Given the description of an element on the screen output the (x, y) to click on. 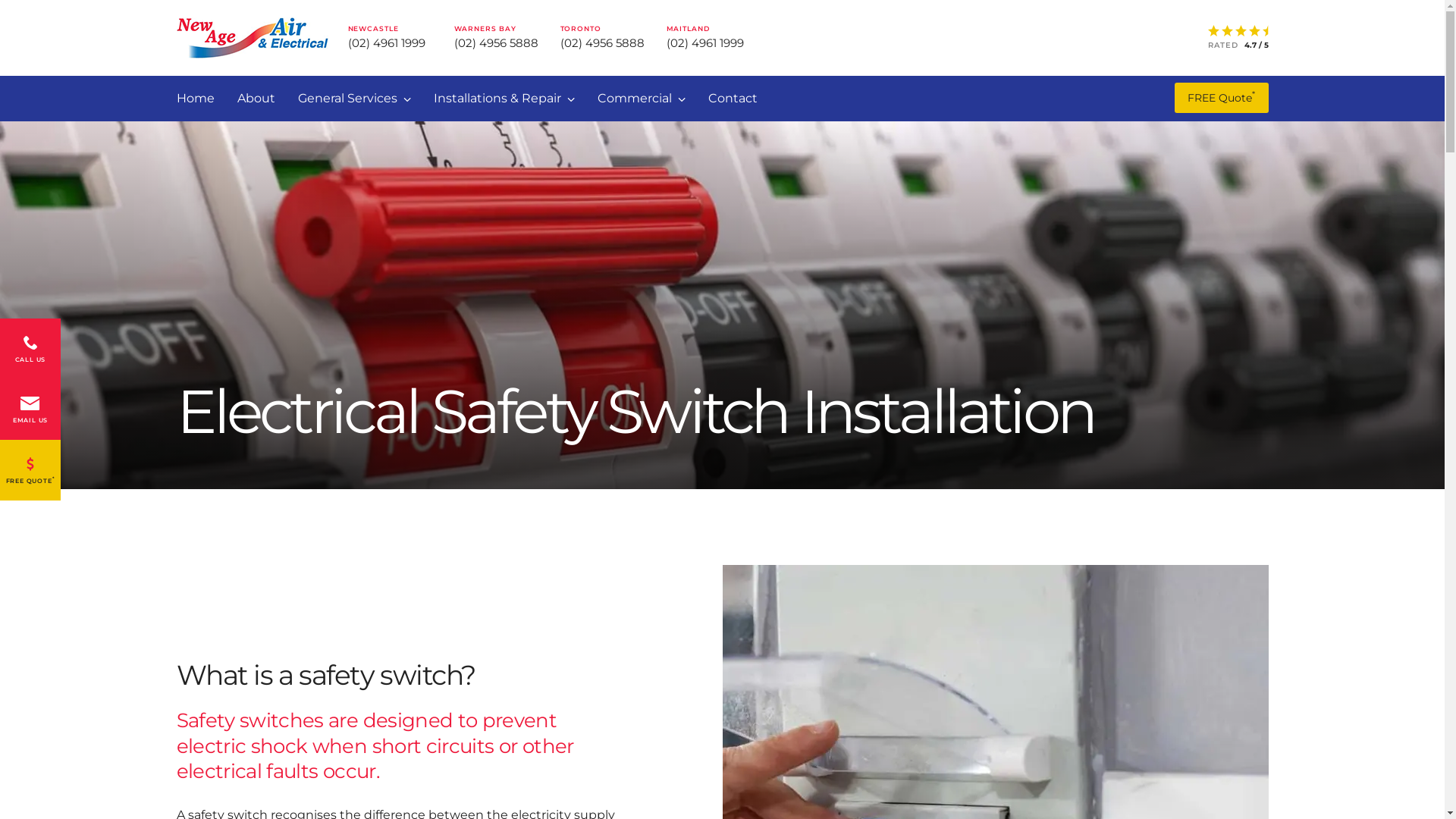
FREE QUOTE* Element type: text (30, 469)
Home Element type: text (194, 98)
(02) 4956 5888 Element type: text (495, 42)
(02) 4956 5888 Element type: text (601, 42)
FREE Quote* Element type: text (1220, 97)
About Element type: text (255, 98)
CALL US Element type: text (30, 348)
Commercial Element type: text (641, 98)
EMAIL US Element type: text (30, 409)
Installations & Repair Element type: text (503, 98)
(02) 4961 1999 Element type: text (704, 42)
Contact Element type: text (732, 98)
(02) 4961 1999 Element type: text (385, 42)
General Services Element type: text (353, 98)
